Given the description of an element on the screen output the (x, y) to click on. 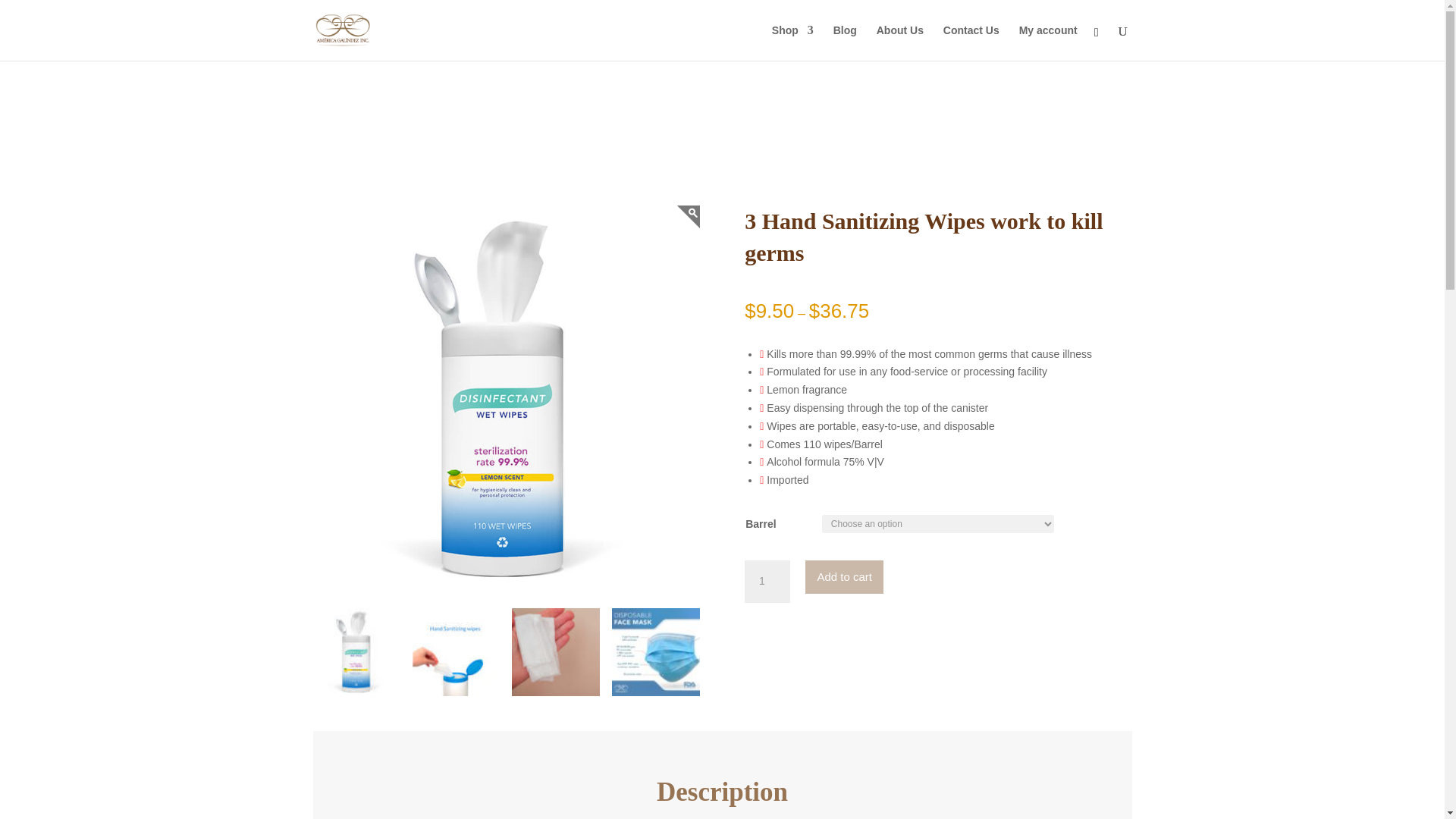
Contact Us (970, 42)
My account (1048, 42)
1 (767, 581)
Add to cart (844, 576)
Shop (792, 42)
About Us (899, 42)
